Given the description of an element on the screen output the (x, y) to click on. 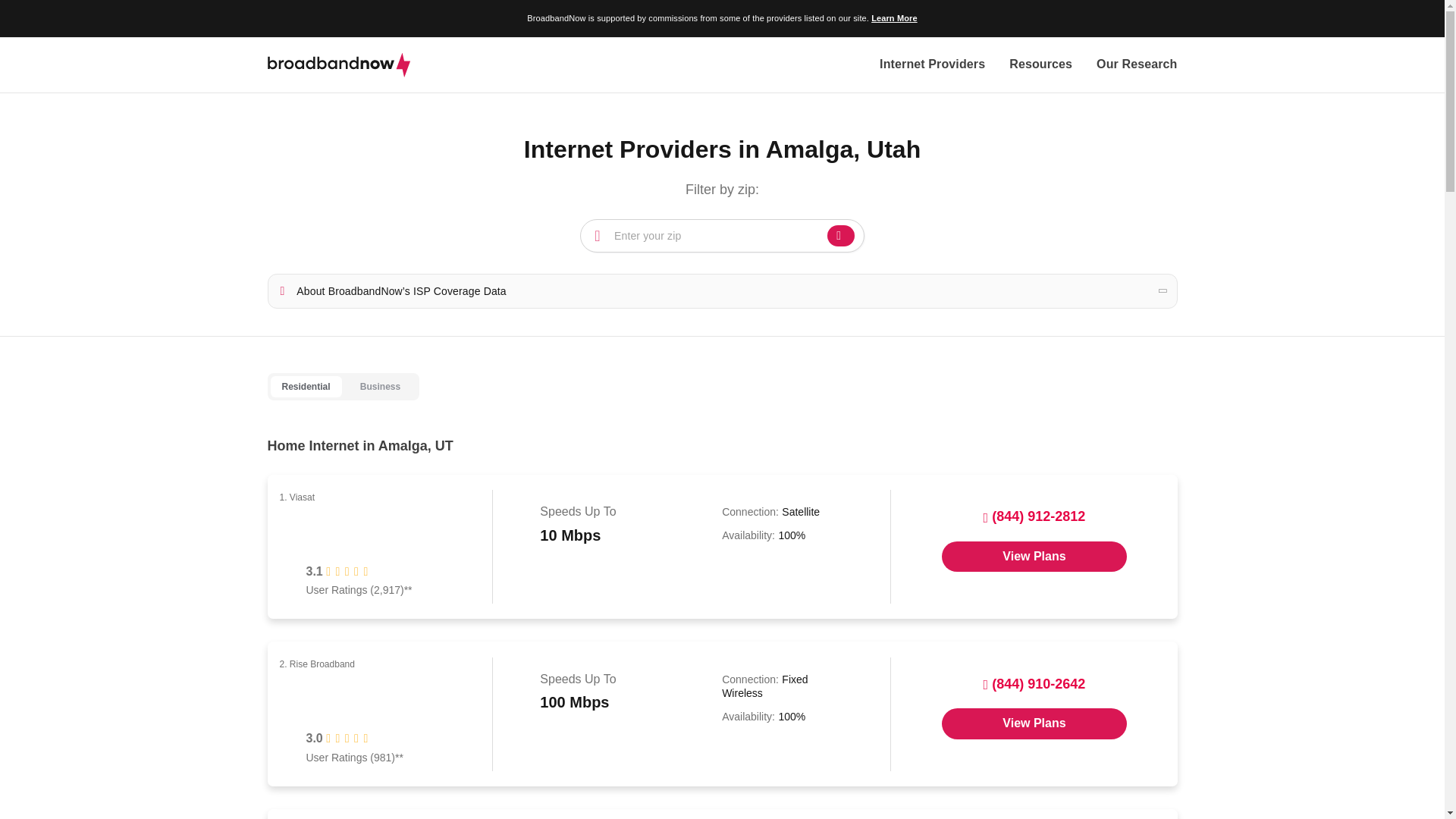
Learn More (893, 17)
Opens in a new window (1034, 723)
Residential (305, 386)
Opens in a new window (1034, 556)
Internet Providers (932, 64)
Resources (1040, 64)
Our Research (1136, 64)
